Given the description of an element on the screen output the (x, y) to click on. 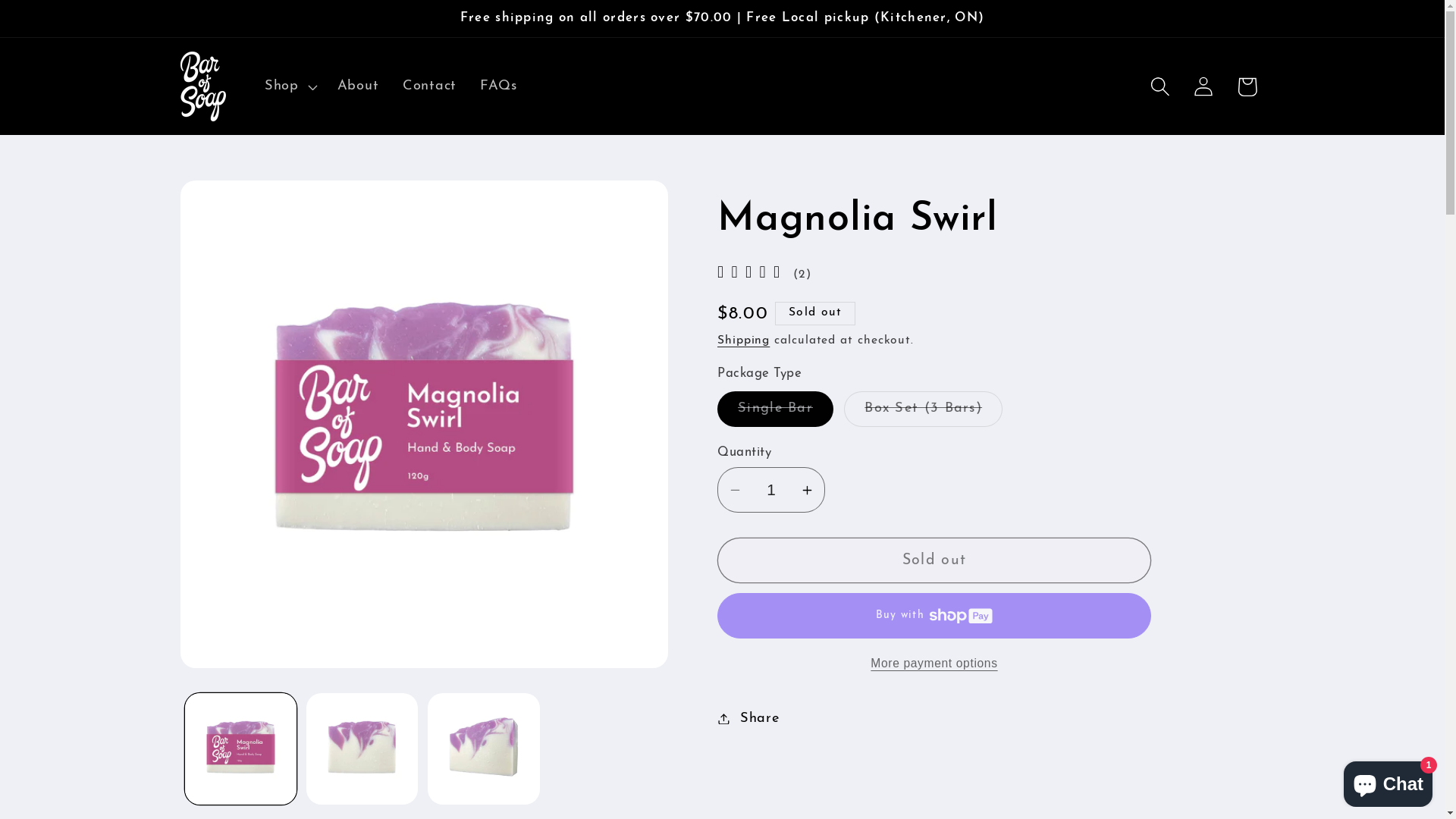
Shipping Element type: text (743, 340)
Skip to product information Element type: text (238, 202)
https://barofsoap.ca/products/magnolia-swirl Element type: text (834, 792)
Shopify online store chat Element type: hover (1388, 780)
Contact Element type: text (429, 85)
Increase quantity for Magnolia Swirl Element type: text (807, 490)
FAQs Element type: text (498, 85)
More payment options Element type: text (934, 663)
Sold out Element type: text (934, 560)
Log in Element type: text (1202, 86)
Decrease quantity for Magnolia Swirl Element type: text (735, 490)
Cart Element type: text (1246, 86)
About Element type: text (357, 85)
